Given the description of an element on the screen output the (x, y) to click on. 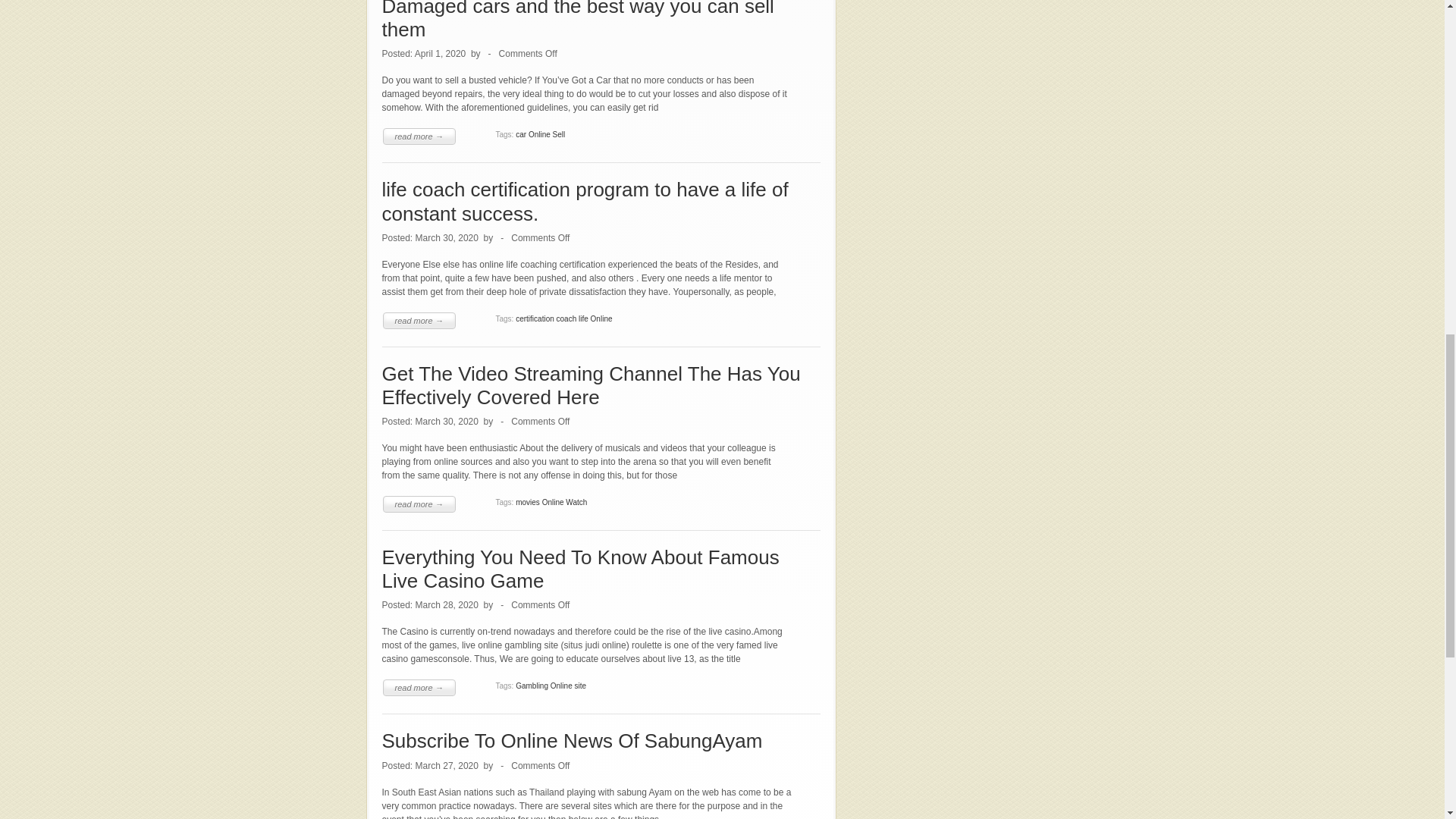
life (583, 318)
Damaged cars and the best way you can sell them (577, 20)
Online (539, 134)
Watch (576, 501)
coach (566, 318)
Everything You Need To Know About Famous Live Casino Game (579, 569)
car (520, 134)
movies (527, 501)
Permanent Link to Subscribe To Online News Of SabungAyam (571, 740)
